Given the description of an element on the screen output the (x, y) to click on. 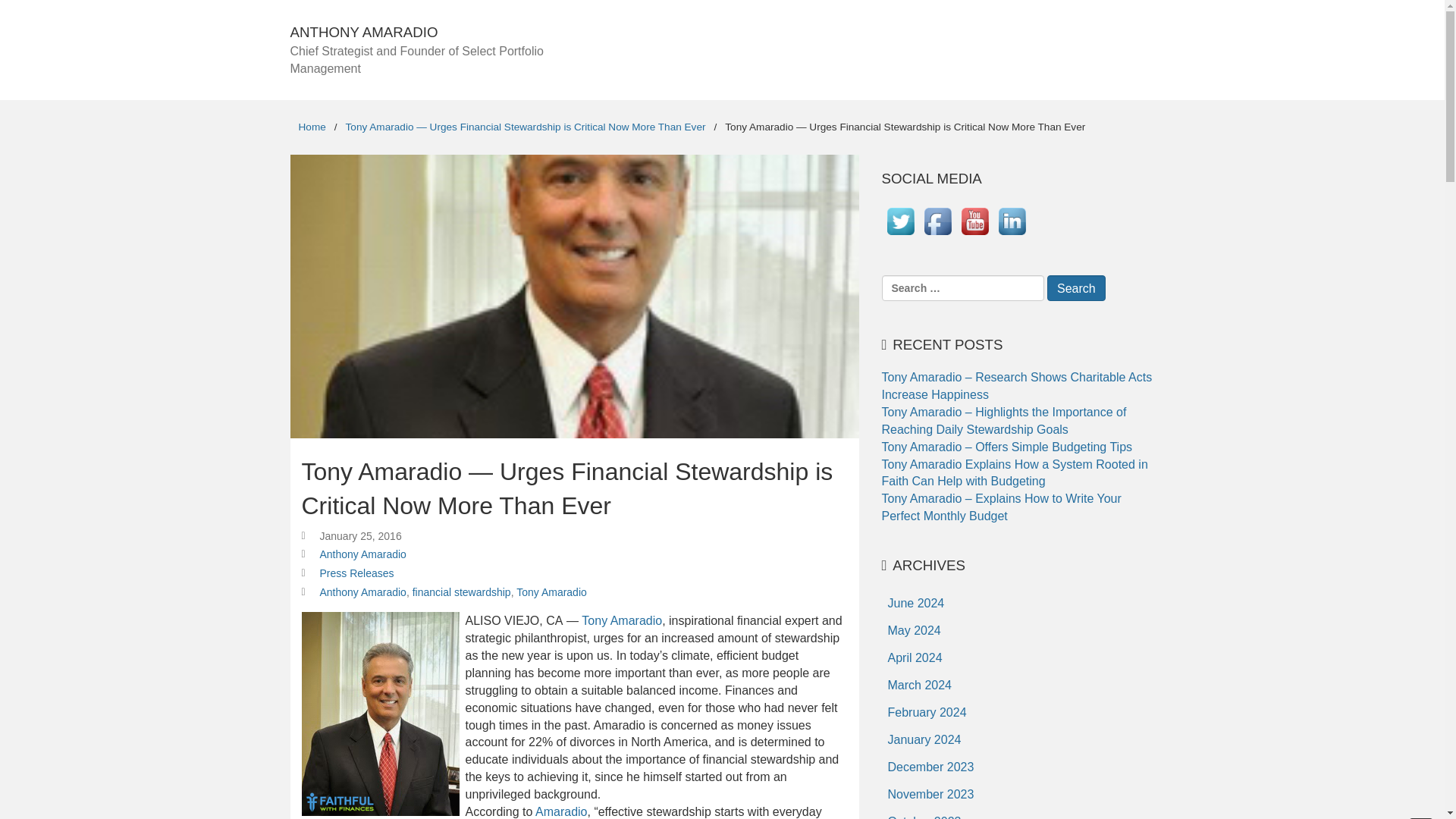
Visit Us On Facebook (937, 235)
Tony Amaradio (551, 592)
Posts by Anthony Amaradio (363, 553)
May 2024 (913, 630)
Amaradio (560, 811)
Search (1075, 288)
Anthony Amaradio (363, 592)
January 2024 (923, 739)
June 2024 (915, 603)
Search (1075, 288)
February 2024 (926, 712)
Anthony Amaradio (363, 553)
financial stewardship (461, 592)
Home (311, 126)
